Given the description of an element on the screen output the (x, y) to click on. 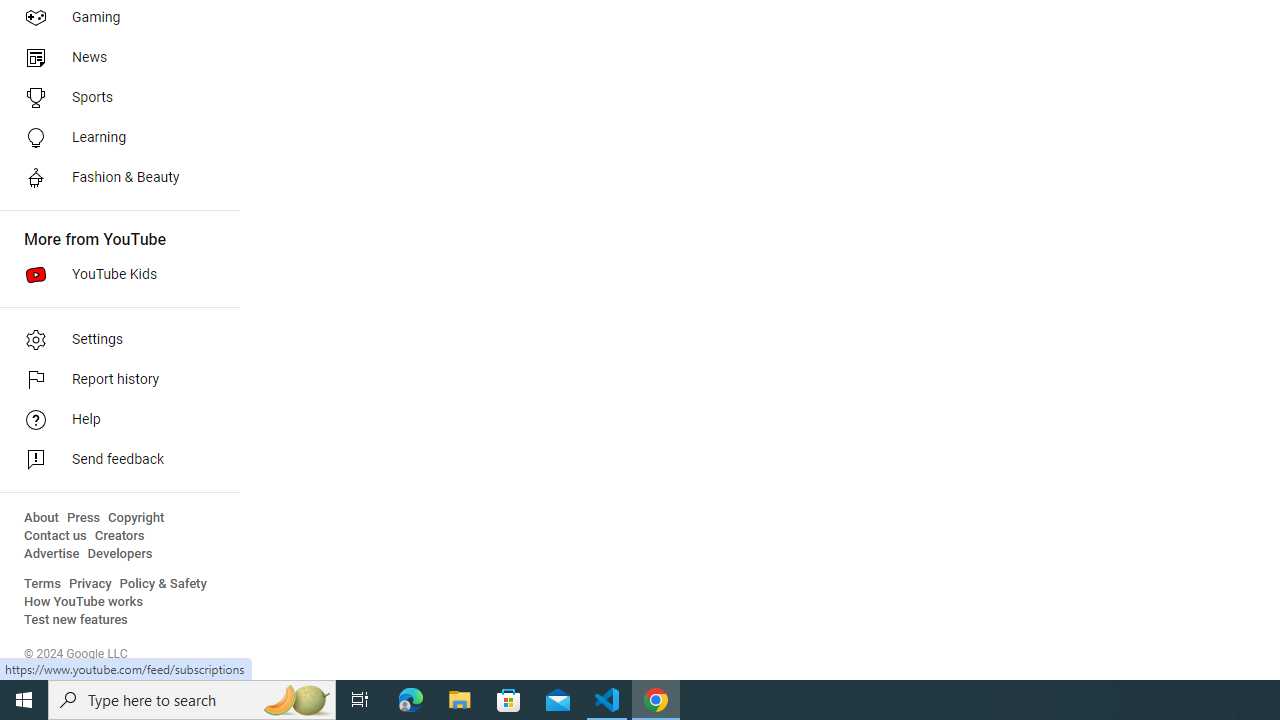
How YouTube works (83, 602)
Report history (113, 380)
YouTube Kids (113, 274)
Sports (113, 97)
Test new features (76, 620)
Policy & Safety (163, 584)
Developers (120, 554)
Learning (113, 137)
Fashion & Beauty (113, 177)
News (113, 57)
Creators (118, 536)
